Given the description of an element on the screen output the (x, y) to click on. 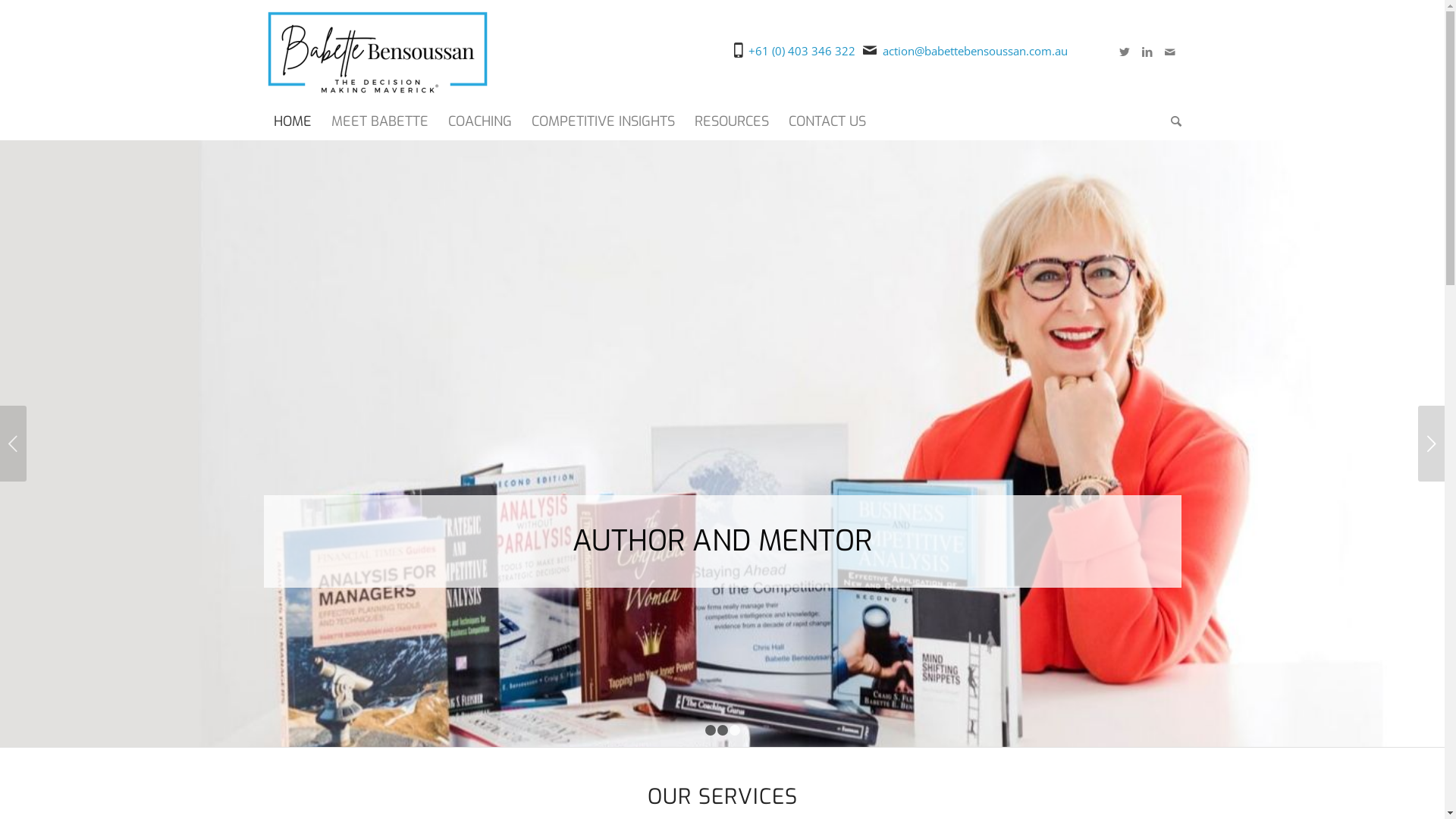
+61 (0) 403 346 322 Element type: text (801, 50)
Next Element type: text (1431, 443)
MEET BABETTE Element type: text (379, 121)
Twitter Element type: hover (1124, 50)
3 Element type: text (734, 729)
RESOURCES Element type: text (731, 121)
HOME Element type: text (292, 121)
action@babettebensoussan.com.au Element type: text (974, 50)
Previous Element type: text (13, 443)
COMPETITIVE INSIGHTS Element type: text (602, 121)
Mail Element type: hover (1169, 50)
COACHING Element type: text (479, 121)
1 Element type: text (710, 729)
LinkedIn Element type: hover (1146, 50)
9 Element type: hover (722, 449)
CONTACT US Element type: text (826, 121)
2 Element type: text (722, 729)
